Given the description of an element on the screen output the (x, y) to click on. 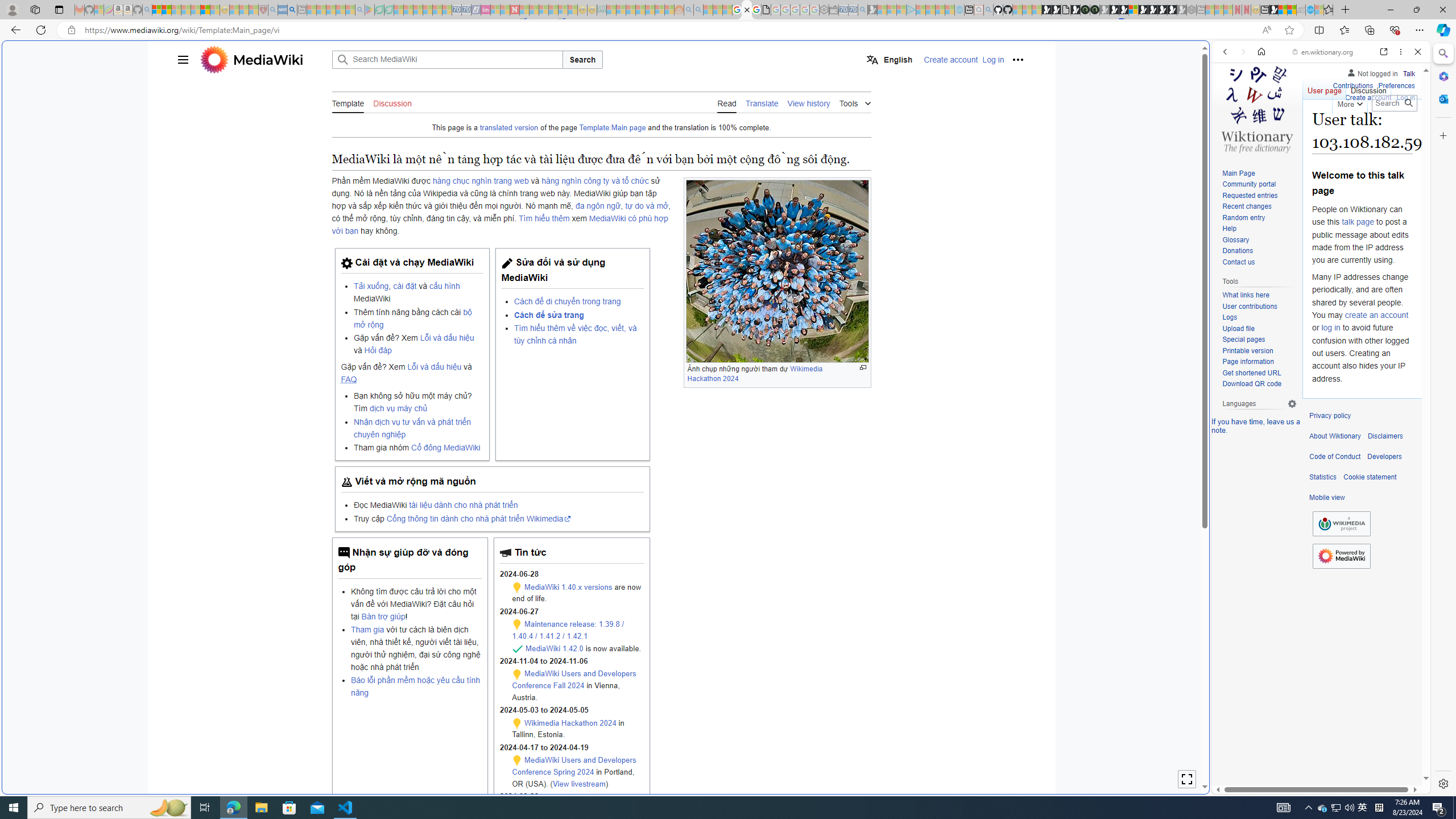
Code of Conduct (1334, 456)
Toggle limited content width (1186, 778)
Create account (1367, 96)
